Given the description of an element on the screen output the (x, y) to click on. 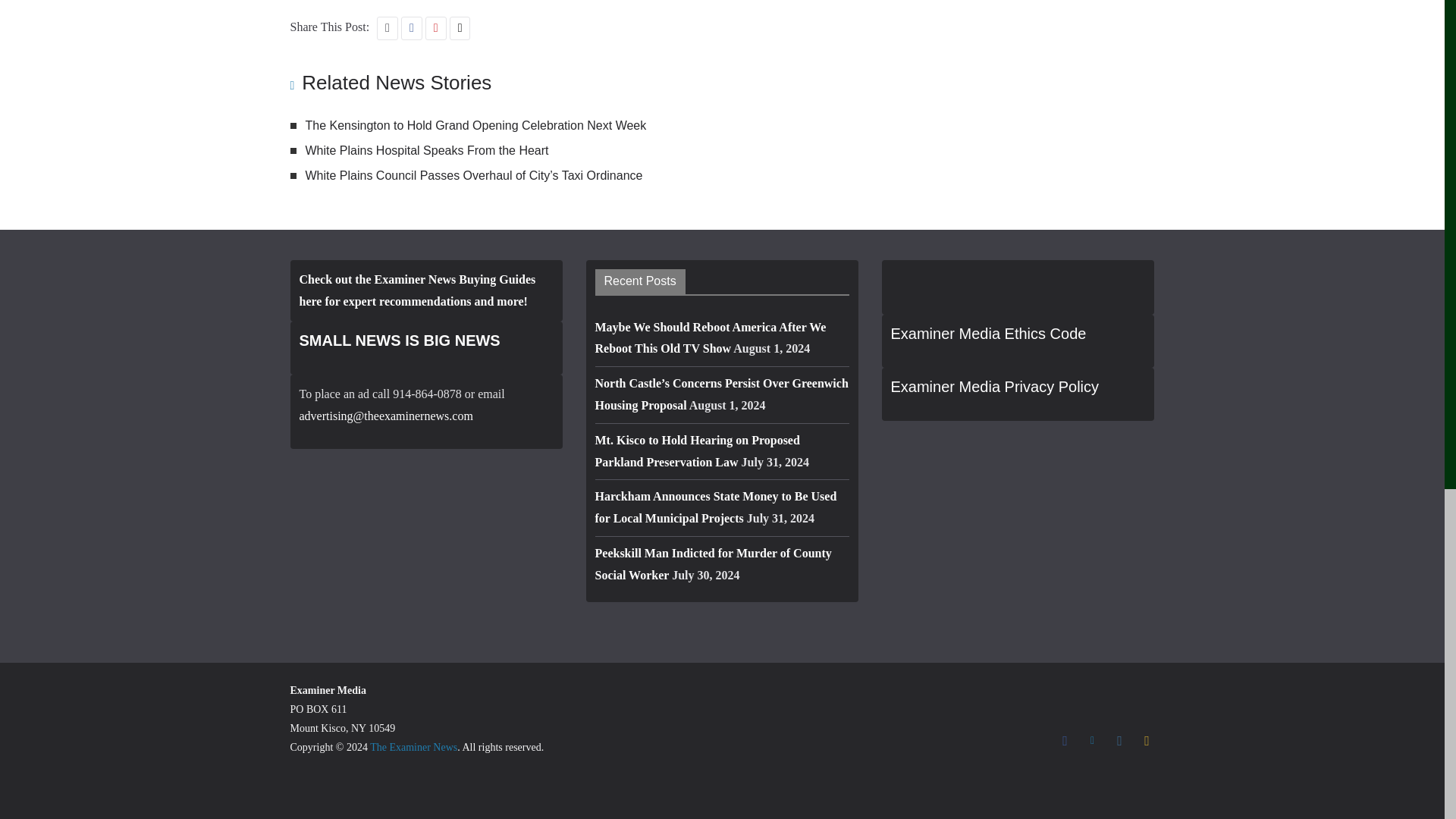
White Plains Hospital Speaks From the Heart (426, 150)
The Examiner News (413, 747)
The Kensington to Hold Grand Opening Celebration Next Week (475, 124)
